Given the description of an element on the screen output the (x, y) to click on. 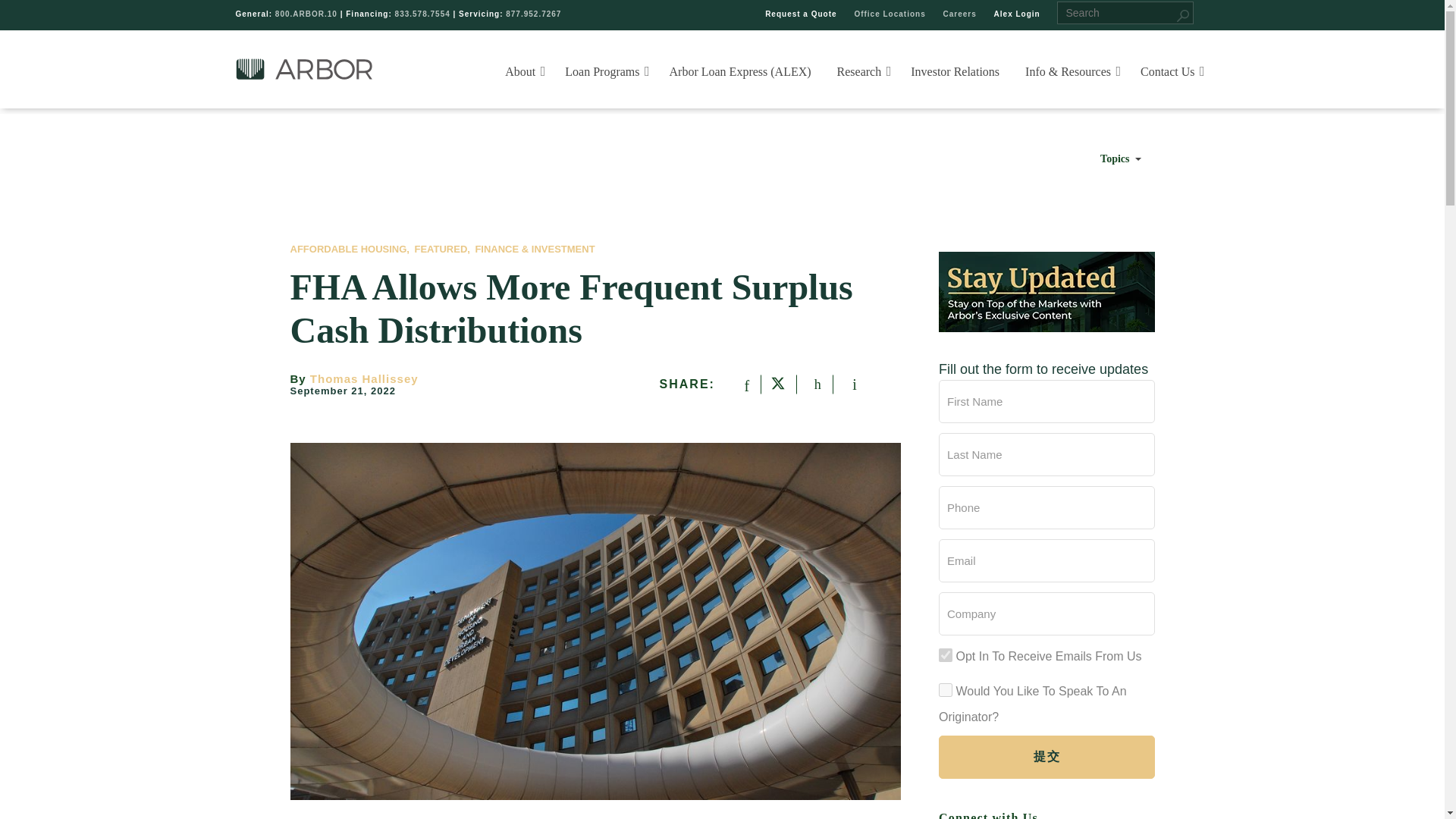
Posts by Thomas Hallissey (364, 378)
About (523, 71)
Loan Programs (605, 71)
Office Locations (888, 13)
Request a Quote (800, 13)
Careers (959, 13)
Alex Login (1017, 13)
Share on Facebook. (741, 383)
Search for: (1125, 12)
1 (945, 654)
Share on LinkedIn (812, 384)
1 (945, 689)
Tweet this! (776, 383)
